Given the description of an element on the screen output the (x, y) to click on. 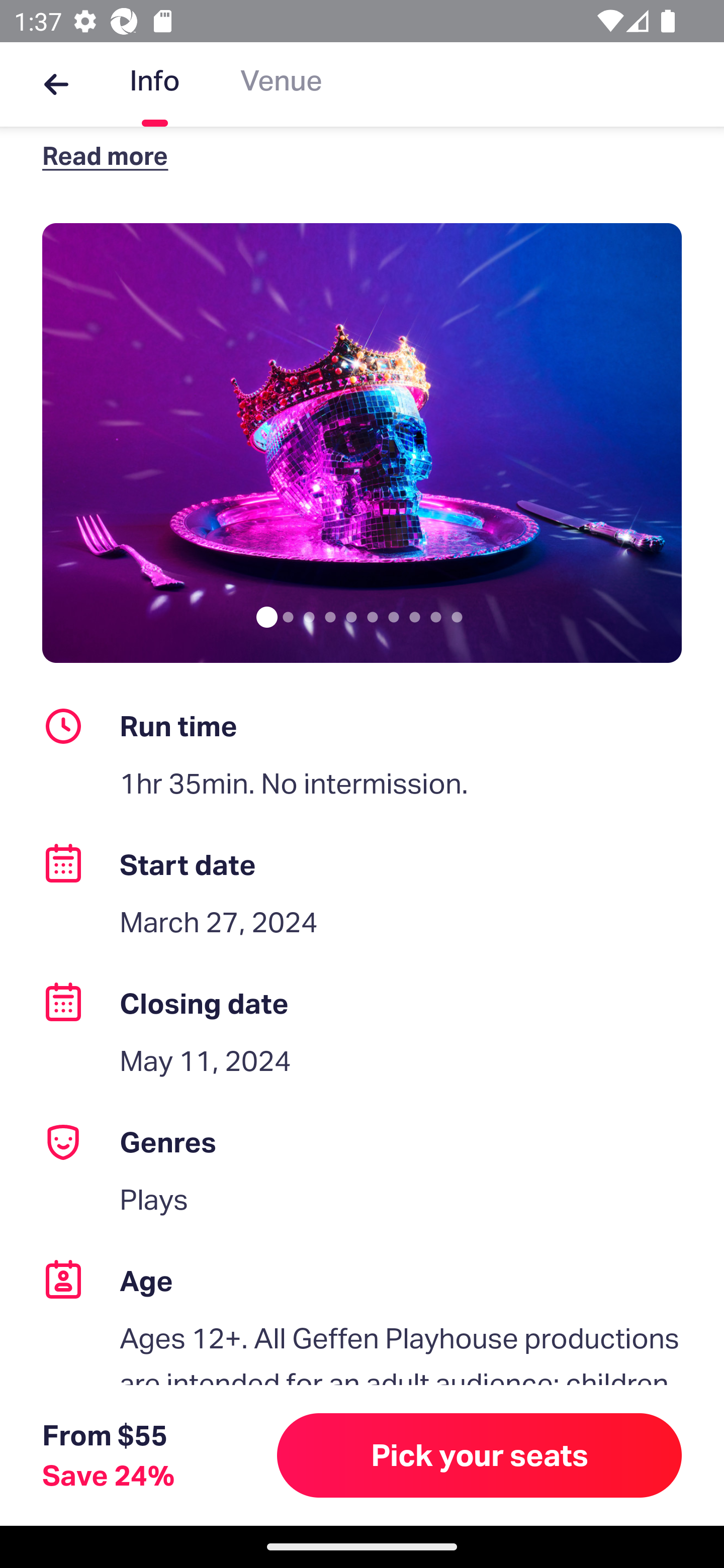
Venue (280, 84)
Read more (109, 155)
Pick your seats (479, 1454)
